Given the description of an element on the screen output the (x, y) to click on. 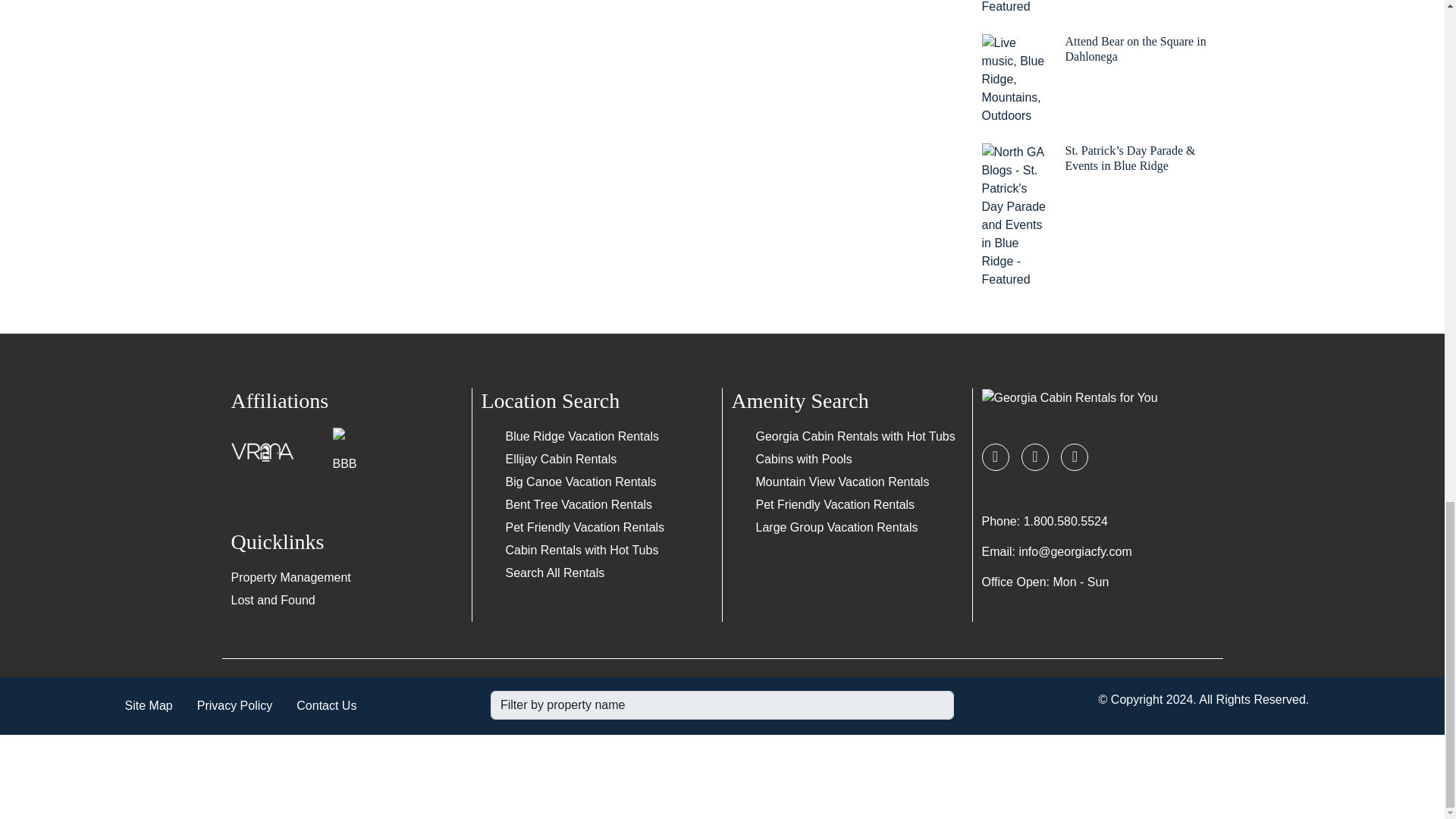
Big Canoe Vacation Rentals (580, 481)
Blue Ridge Vacation Rentals (582, 436)
Ellijay Cabin Rentals (560, 459)
Butternut Creek Festival (1096, 7)
Lost and Found (272, 599)
Attend Bear on the Square in Dahlonega (1096, 79)
Property Management (290, 576)
